Given the description of an element on the screen output the (x, y) to click on. 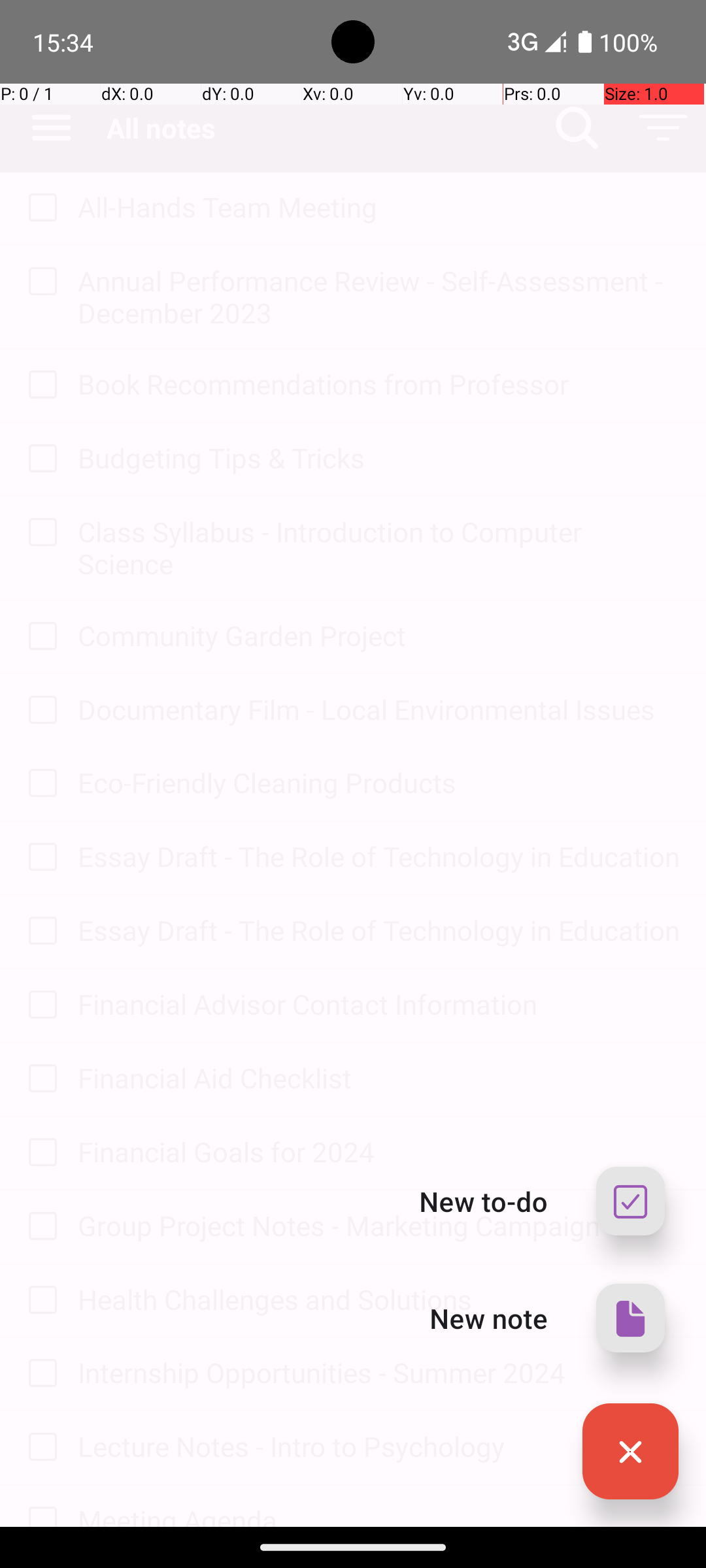
Sidebar Element type: android.widget.Button (44, 127)
All notes Element type: android.widget.TextView (320, 127)
Sort notes by Element type: android.widget.Button (663, 127)
New to-do Element type: android.widget.Button (483, 1201)
New note Element type: android.widget.Button (488, 1317)
Add new, expanded Element type: android.widget.Button (630, 1451)
 Element type: android.widget.TextView (51, 127)
 Element type: android.widget.TextView (576, 127)
 Element type: android.widget.TextView (663, 127)
 Element type: android.widget.TextView (630, 1200)
 Element type: android.widget.TextView (630, 1317)
 Element type: android.widget.TextView (630, 1450)
to-do: All-Hands Team Meeting Element type: android.widget.CheckBox (38, 208)
All-Hands Team Meeting Element type: android.widget.TextView (378, 206)
to-do: Annual Performance Review - Self-Assessment - December 2023 Element type: android.widget.CheckBox (38, 282)
Annual Performance Review - Self-Assessment - December 2023 Element type: android.widget.TextView (378, 296)
to-do: Book Recommendations from Professor Element type: android.widget.CheckBox (38, 385)
Book Recommendations from Professor Element type: android.widget.TextView (378, 383)
to-do: Budgeting Tips & Tricks Element type: android.widget.CheckBox (38, 459)
Budgeting Tips & Tricks Element type: android.widget.TextView (378, 457)
to-do: Class Syllabus - Introduction to Computer Science Element type: android.widget.CheckBox (38, 533)
Class Syllabus - Introduction to Computer Science Element type: android.widget.TextView (378, 547)
to-do: Community Garden Project Element type: android.widget.CheckBox (38, 636)
Community Garden Project Element type: android.widget.TextView (378, 634)
to-do: Documentary Film - Local Environmental Issues Element type: android.widget.CheckBox (38, 710)
Documentary Film - Local Environmental Issues Element type: android.widget.TextView (378, 708)
to-do: Eco-Friendly Cleaning Products Element type: android.widget.CheckBox (38, 783)
Eco-Friendly Cleaning Products Element type: android.widget.TextView (378, 781)
to-do: Essay Draft - The Role of Technology in Education Element type: android.widget.CheckBox (38, 857)
Essay Draft - The Role of Technology in Education Element type: android.widget.TextView (378, 855)
to-do: Financial Advisor Contact Information Element type: android.widget.CheckBox (38, 1005)
Financial Advisor Contact Information Element type: android.widget.TextView (378, 1003)
to-do: Financial Aid Checklist Element type: android.widget.CheckBox (38, 1079)
Financial Aid Checklist Element type: android.widget.TextView (378, 1077)
to-do: Financial Goals for 2024 Element type: android.widget.CheckBox (38, 1153)
Financial Goals for 2024 Element type: android.widget.TextView (378, 1151)
to-do: Group Project Notes - Marketing Campaign Element type: android.widget.CheckBox (38, 1227)
Group Project Notes - Marketing Campaign Element type: android.widget.TextView (378, 1224)
to-do: Health Challenges and Solutions Element type: android.widget.CheckBox (38, 1300)
Health Challenges and Solutions Element type: android.widget.TextView (378, 1298)
to-do: Internship Opportunities - Summer 2024 Element type: android.widget.CheckBox (38, 1373)
Internship Opportunities - Summer 2024 Element type: android.widget.TextView (378, 1371)
to-do: Lecture Notes - Intro to Psychology Element type: android.widget.CheckBox (38, 1447)
Lecture Notes - Intro to Psychology Element type: android.widget.TextView (378, 1445)
to-do: Meeting Agenda Element type: android.widget.CheckBox (38, 1505)
Meeting Agenda Element type: android.widget.TextView (378, 1513)
 Element type: android.widget.TextView (42, 208)
